Given the description of an element on the screen output the (x, y) to click on. 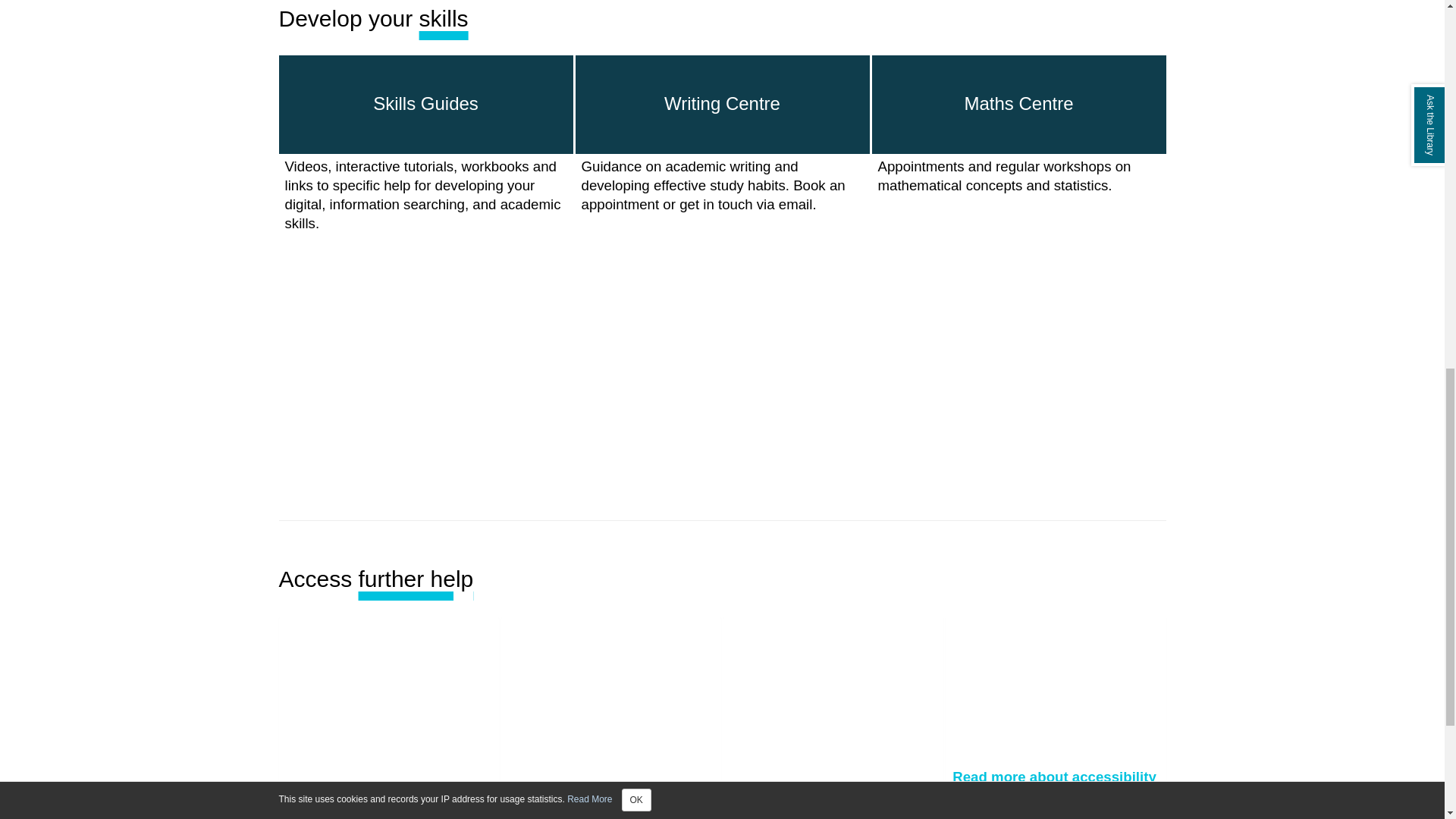
Skills Guides (426, 104)
Writing Centre (722, 104)
Maths Centre (1019, 104)
YouTube video player (508, 380)
YouTube video player (935, 380)
